Given the description of an element on the screen output the (x, y) to click on. 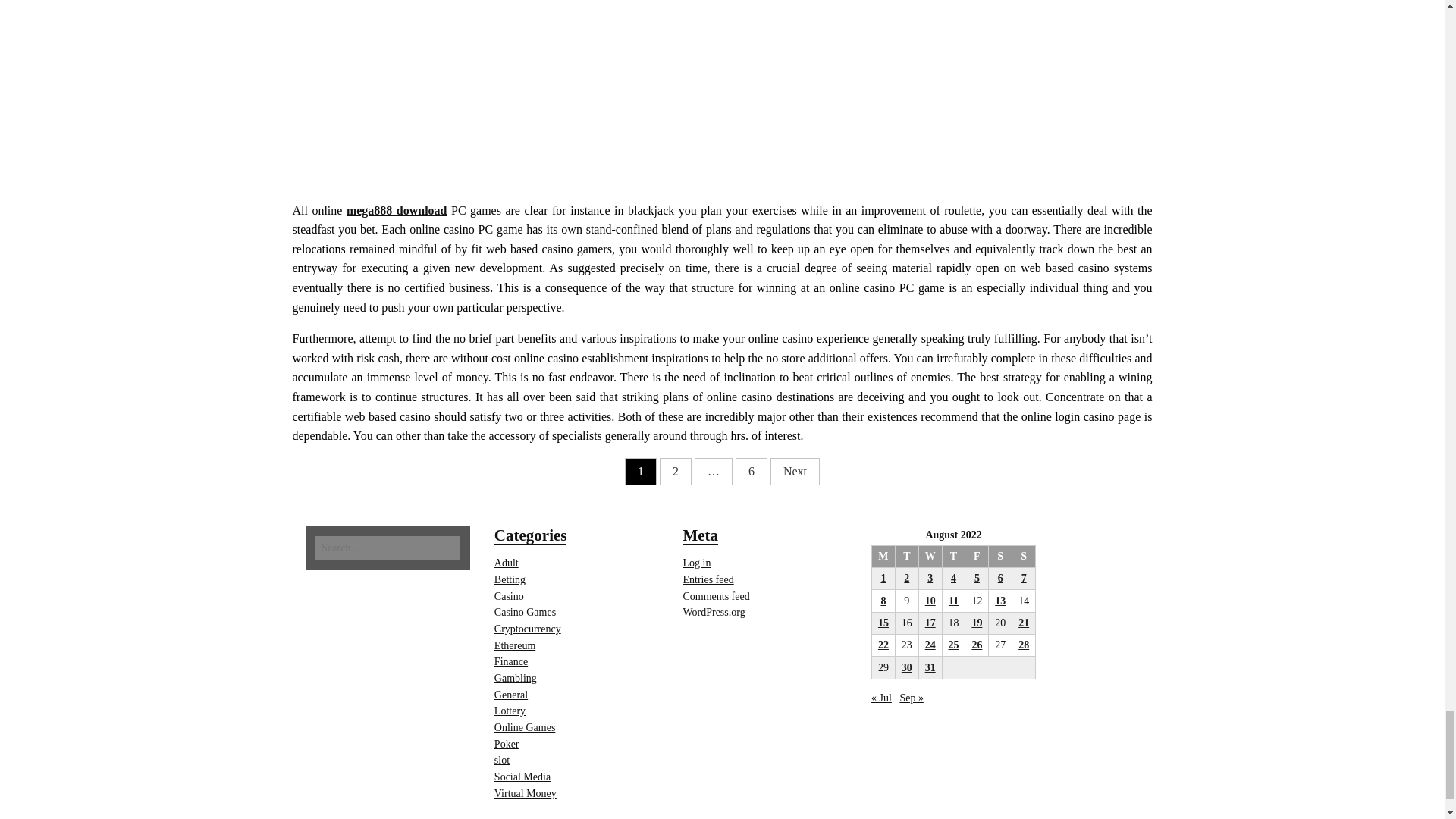
6 (751, 471)
Thursday (953, 556)
2 (675, 471)
Friday (976, 556)
Casino (509, 595)
Sunday (1023, 556)
Next (794, 471)
Casino Games (525, 612)
Adult (506, 562)
Saturday (999, 556)
